Given the description of an element on the screen output the (x, y) to click on. 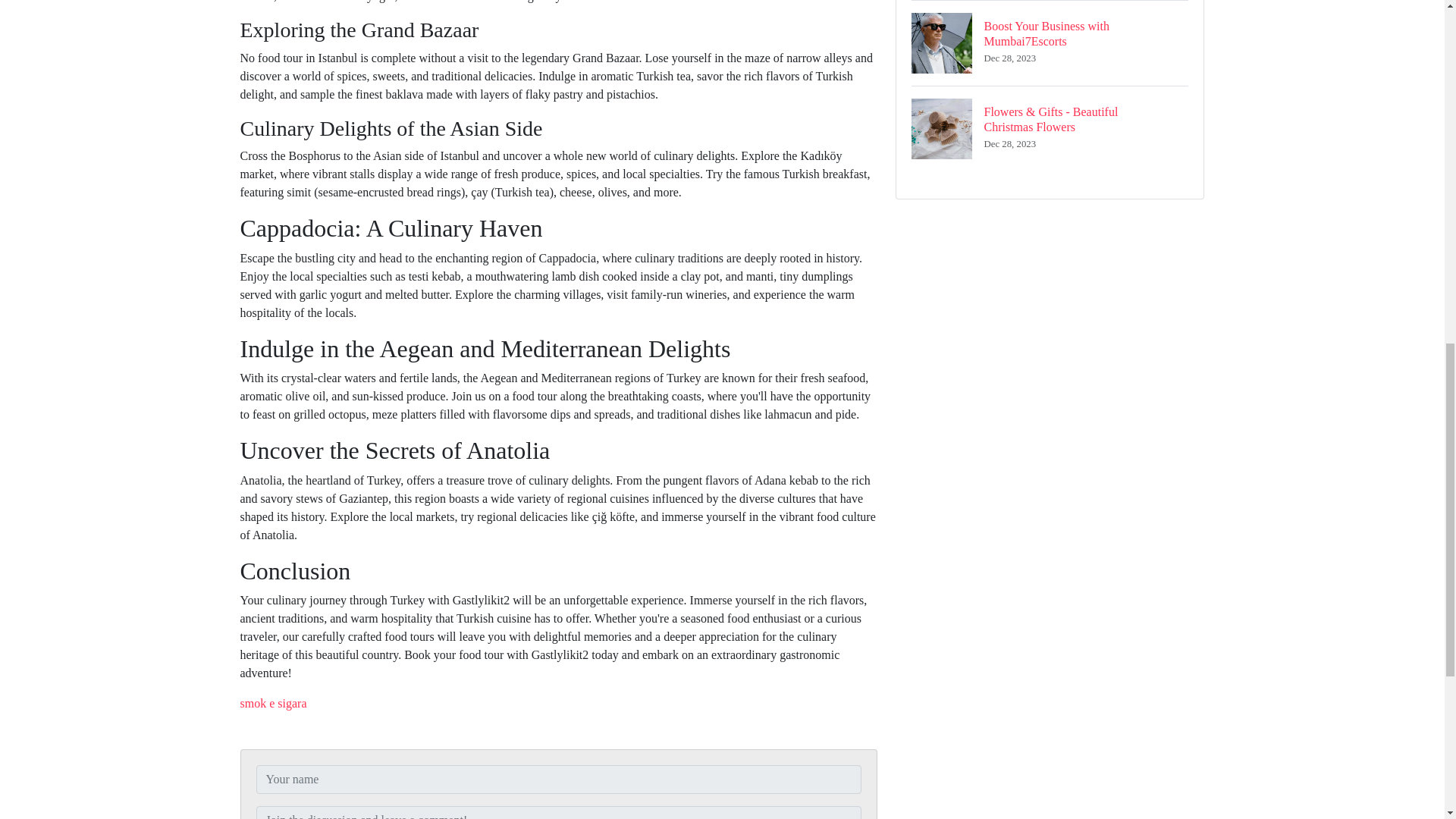
smok e sigara (272, 703)
